Given the description of an element on the screen output the (x, y) to click on. 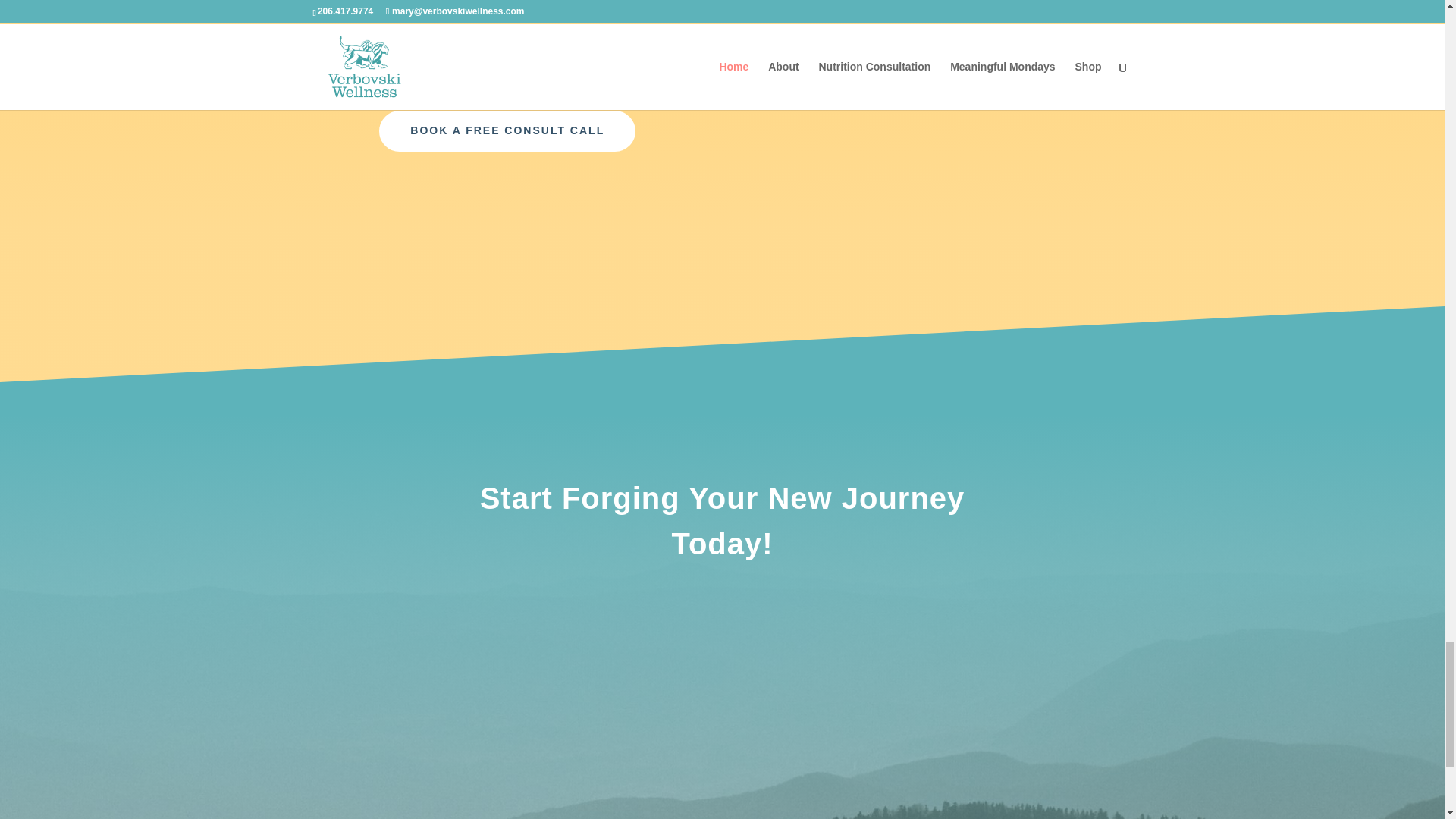
BOOK A FREE CONSULT CALL (506, 130)
